Given the description of an element on the screen output the (x, y) to click on. 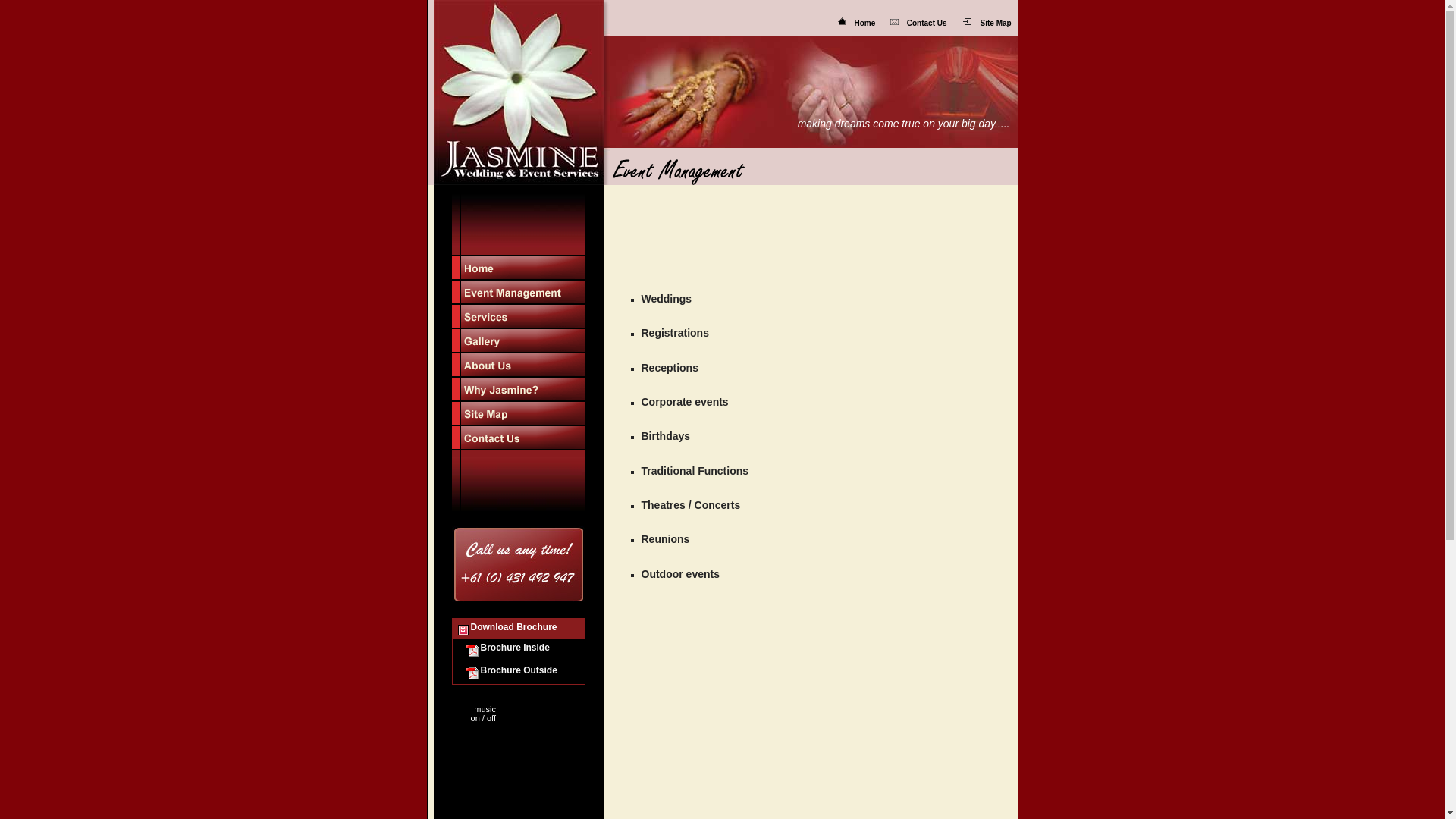
Advertisement Element type: hover (780, 207)
Brochure Inside Element type: text (506, 647)
Home Element type: text (864, 22)
Contact Us Element type: text (926, 22)
Brochure Outside Element type: text (510, 670)
Site Map Element type: text (995, 22)
